Given the description of an element on the screen output the (x, y) to click on. 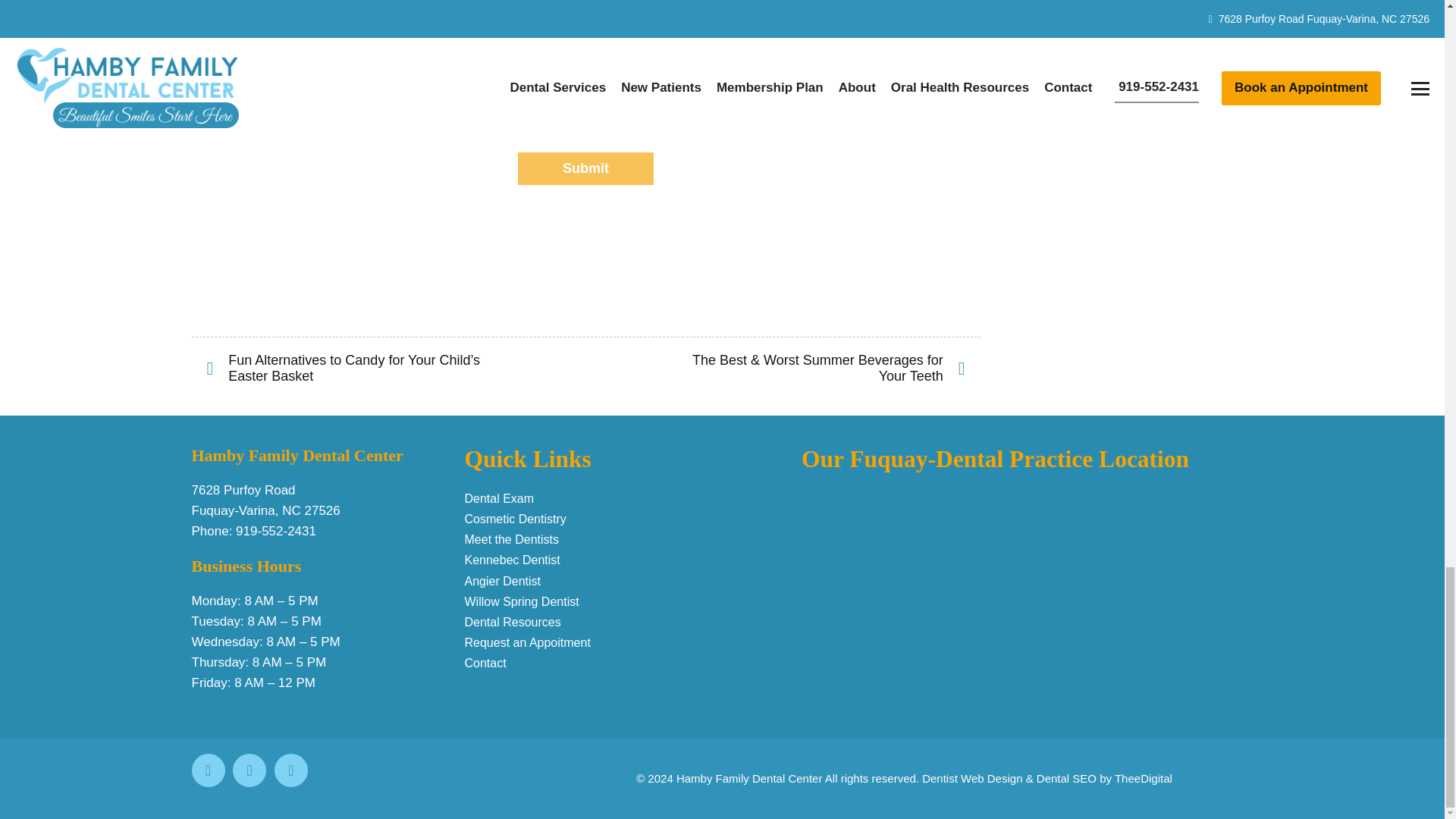
Facebook (207, 770)
Dentist Web Design (971, 778)
Instagram (291, 770)
Dental SEO (1066, 778)
Youtube (249, 770)
Dental Internet Marketing Agency (1143, 778)
